Given the description of an element on the screen output the (x, y) to click on. 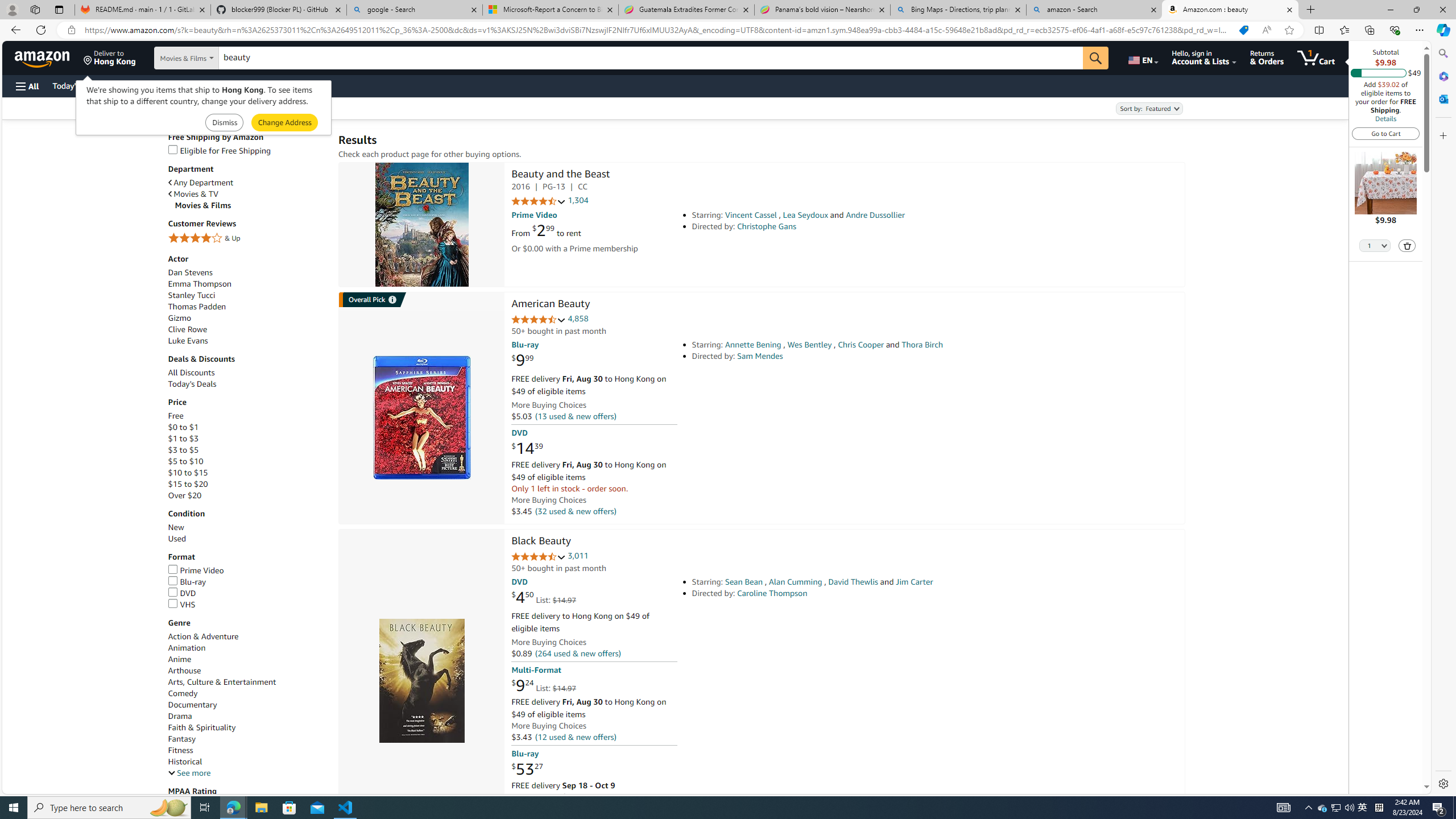
Action & Adventure (247, 636)
Choose a language for shopping. (1142, 57)
Used (176, 538)
Andre Dussollier (874, 214)
$9.99 (522, 360)
$10 to $15 (187, 472)
Thomas Padden (196, 306)
Multi-Format (536, 670)
Prime Video (247, 570)
Faith & Spirituality (201, 727)
